Given the description of an element on the screen output the (x, y) to click on. 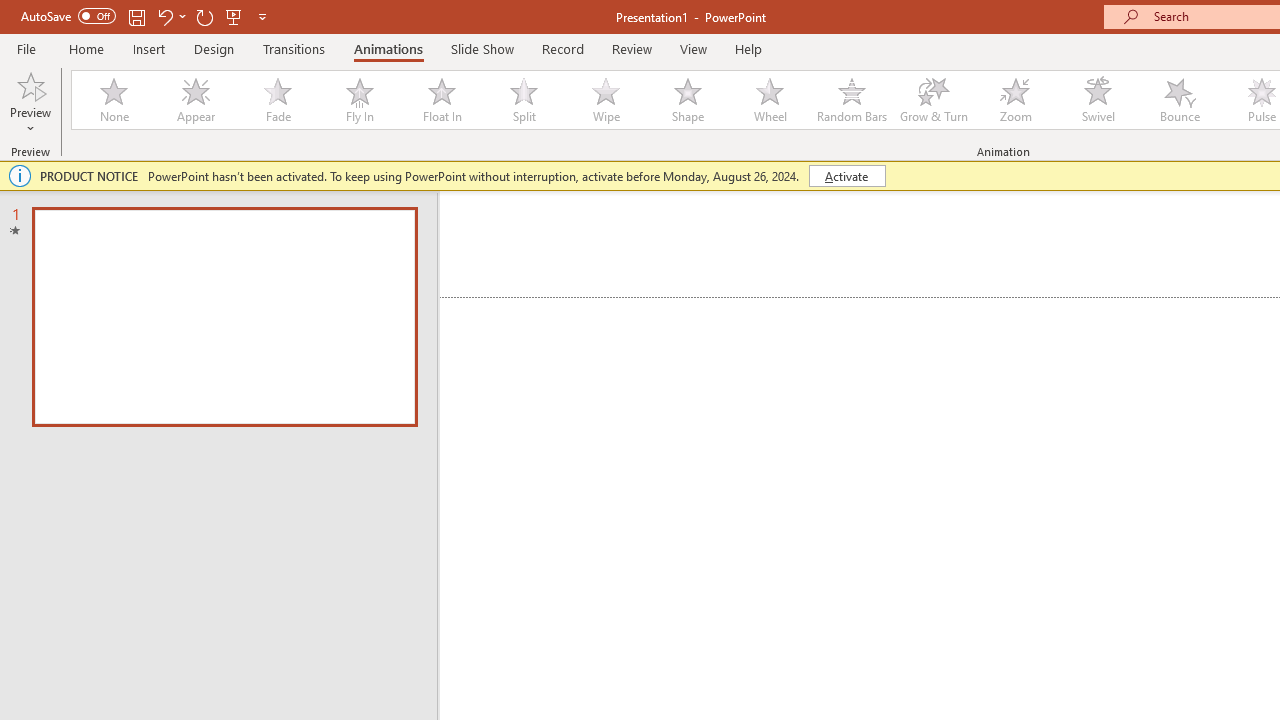
Float In (441, 100)
Wheel (770, 100)
Appear (195, 100)
